Given the description of an element on the screen output the (x, y) to click on. 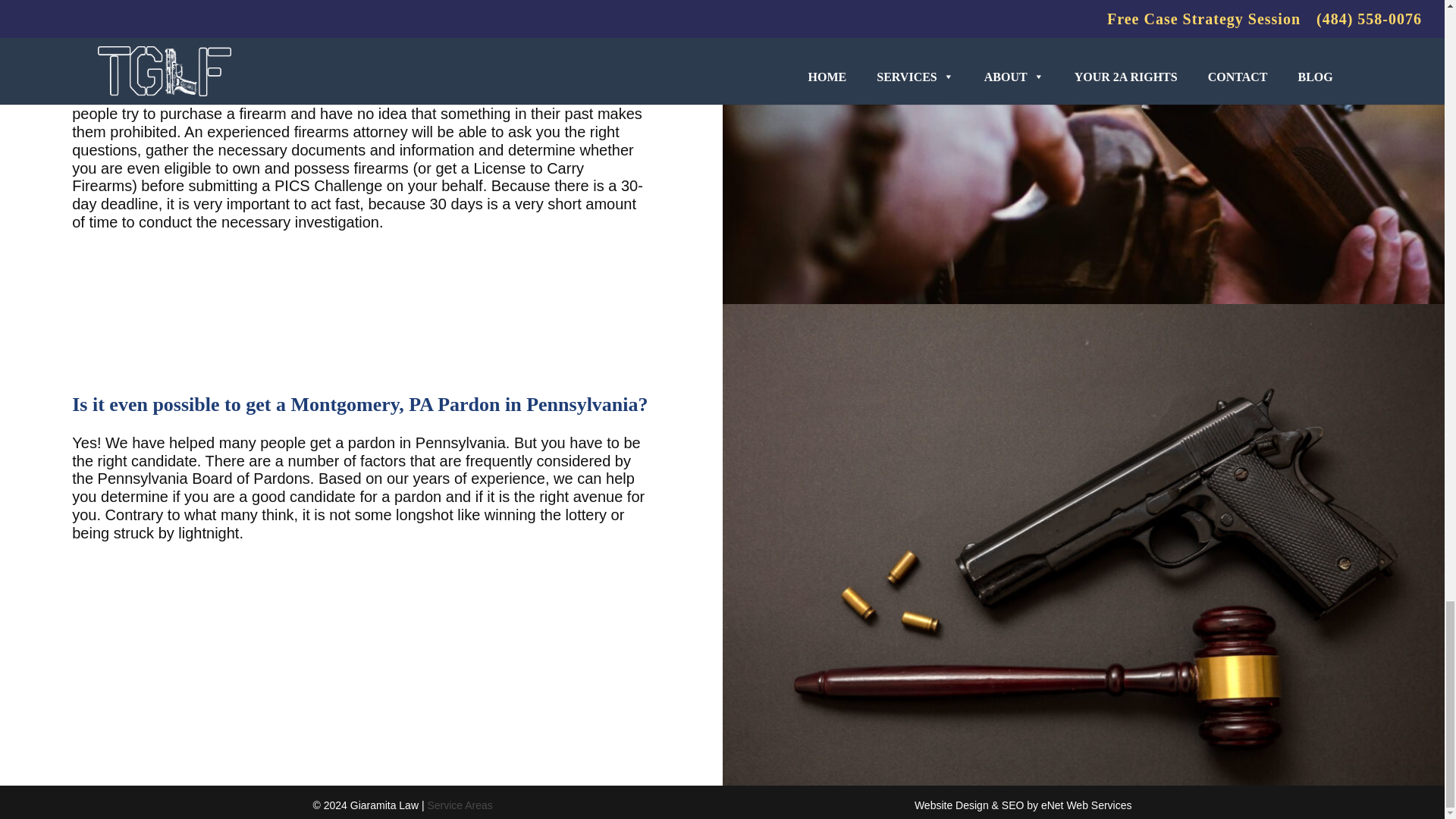
Service Areas (459, 805)
